Given the description of an element on the screen output the (x, y) to click on. 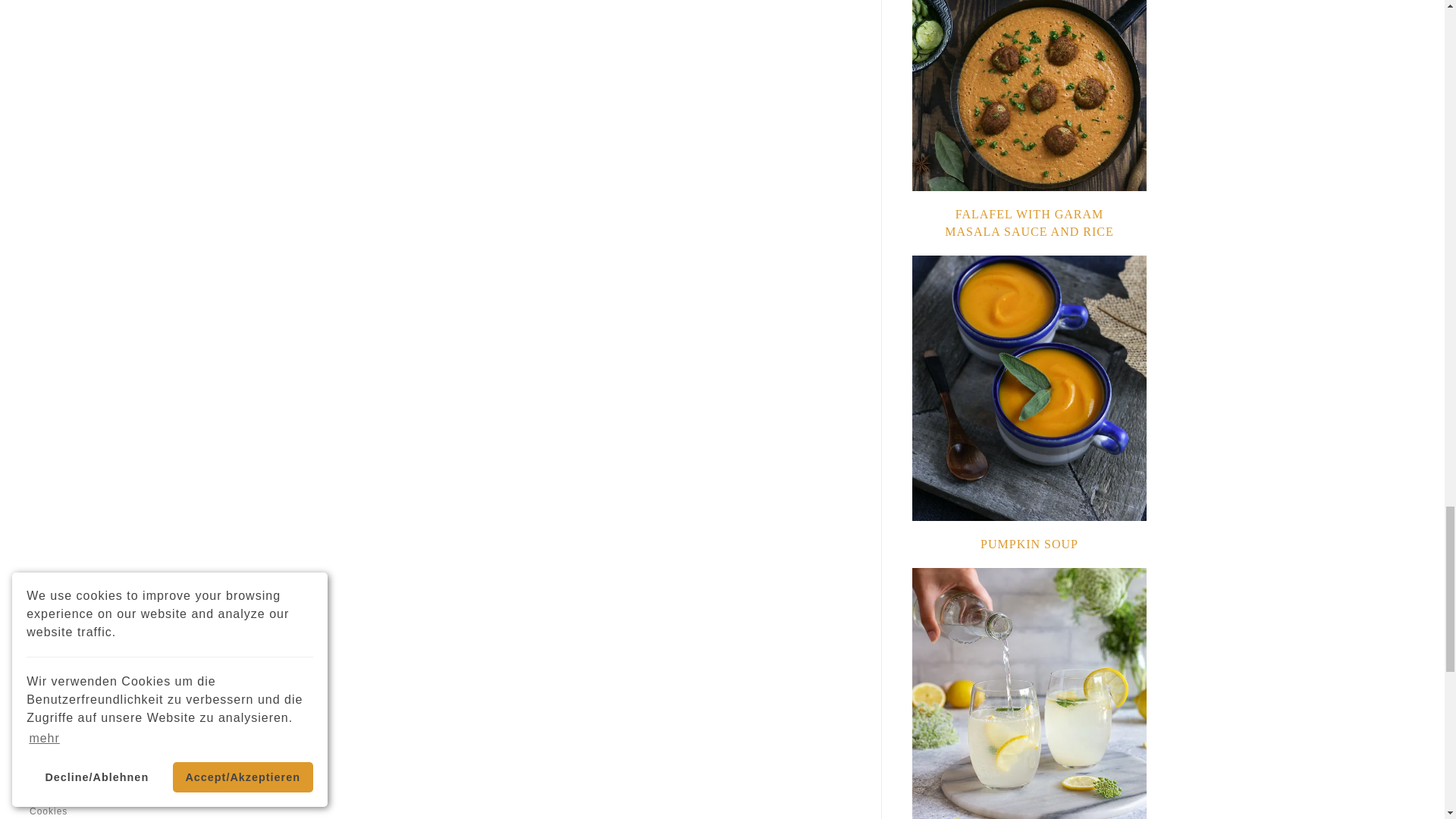
Pumpkin Soup (1028, 543)
Falafel with Garam Masala Sauce and Rice (1028, 222)
